Given the description of an element on the screen output the (x, y) to click on. 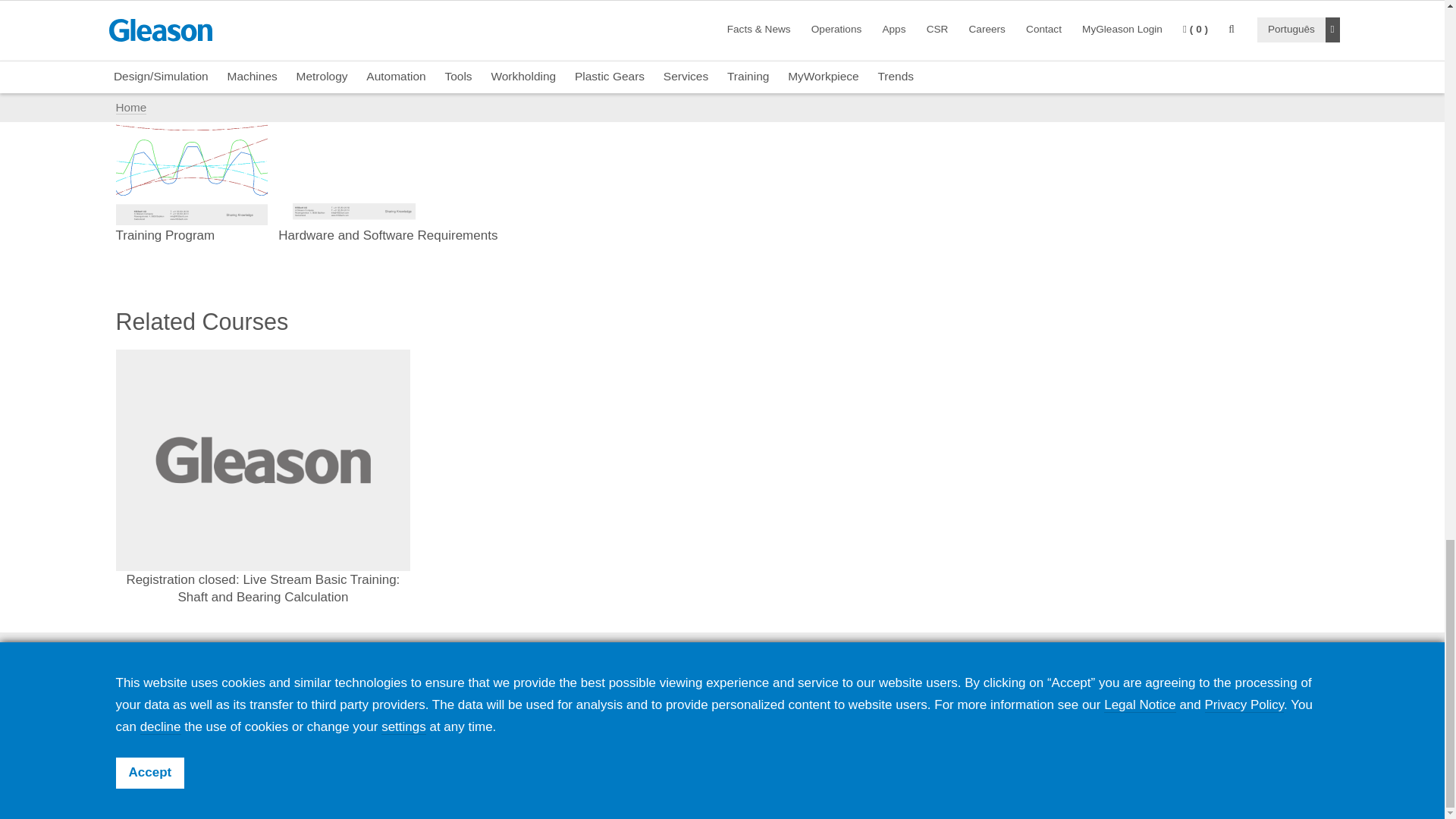
YouTube (1233, 716)
Facebook (1120, 716)
Twitter (1195, 716)
Line (1309, 716)
News Feed (1082, 716)
Instagram (1271, 716)
LinkedIn (1158, 716)
